Given the description of an element on the screen output the (x, y) to click on. 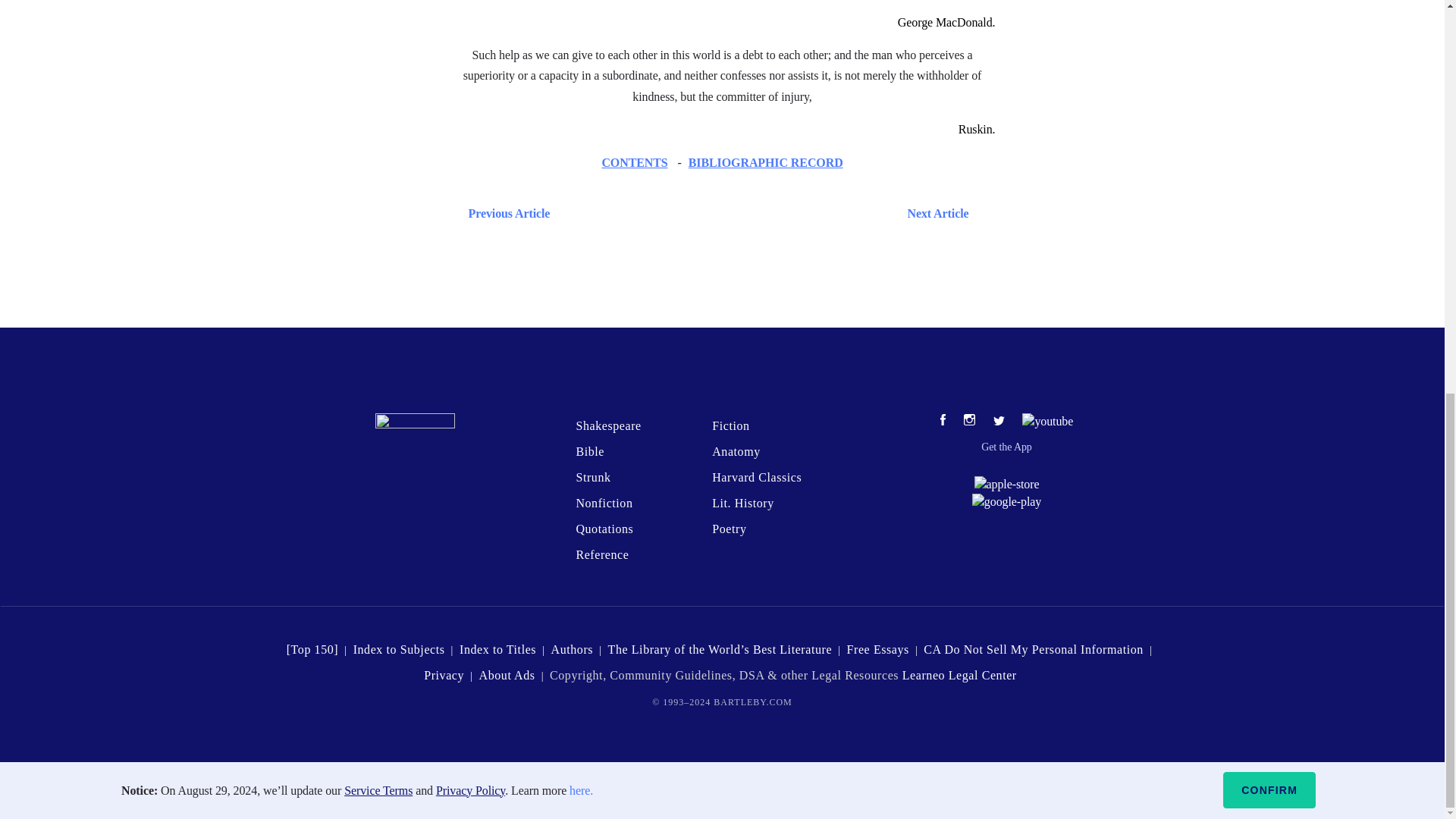
Nonfiction (603, 502)
Reference (601, 554)
Fiction (730, 425)
CONTENTS (633, 162)
Shakespeare (607, 425)
Previous Article (505, 213)
Anatomy (735, 451)
Poetry (728, 528)
BIBLIOGRAPHIC RECORD (765, 162)
Lit. History (742, 502)
